Given the description of an element on the screen output the (x, y) to click on. 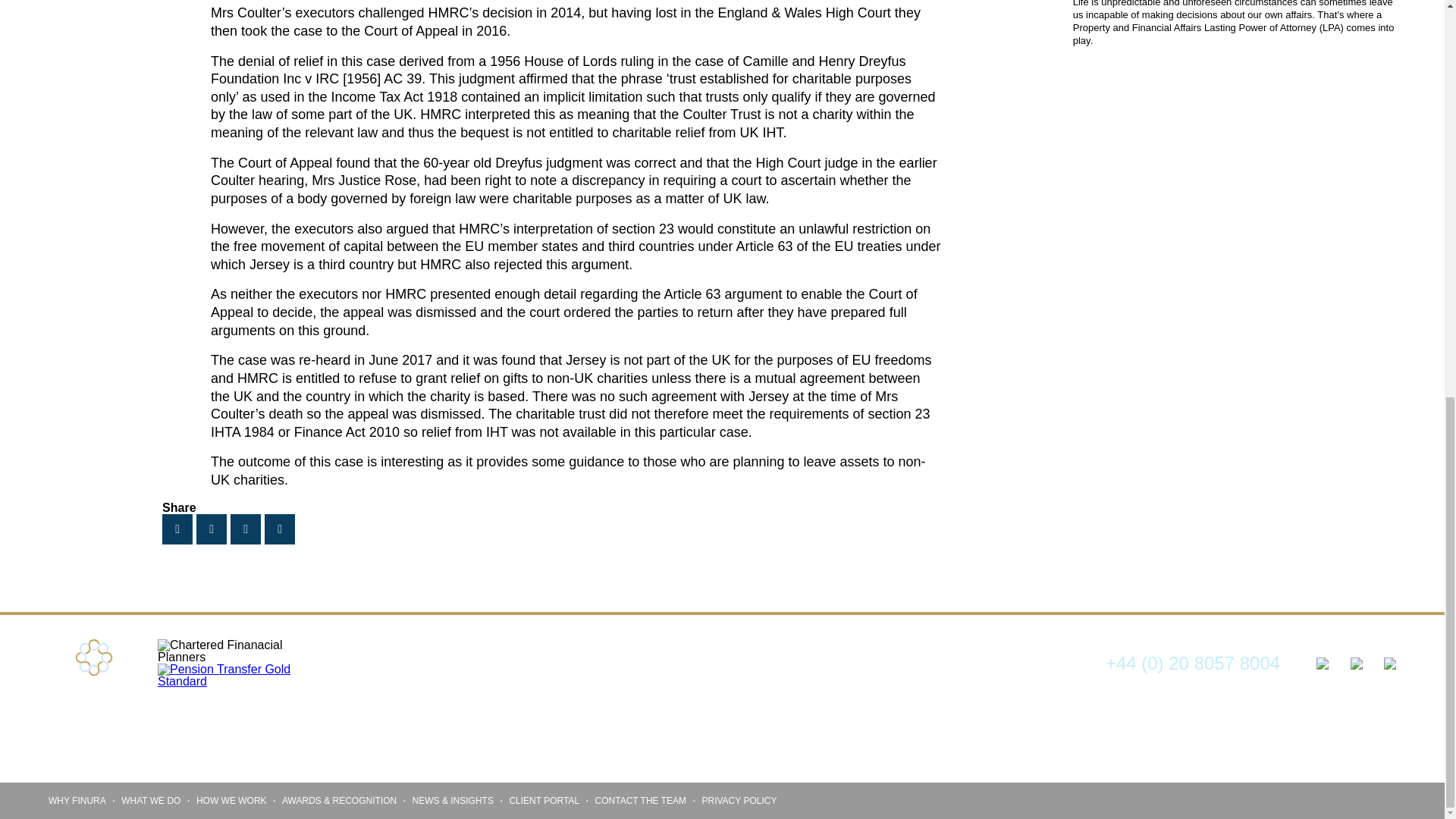
CONTACT THE TEAM (640, 800)
WHAT WE DO (150, 800)
PRIVACY POLICY (738, 800)
CLIENT PORTAL (543, 800)
HOW WE WORK (231, 800)
WHY FINURA (77, 800)
